Given the description of an element on the screen output the (x, y) to click on. 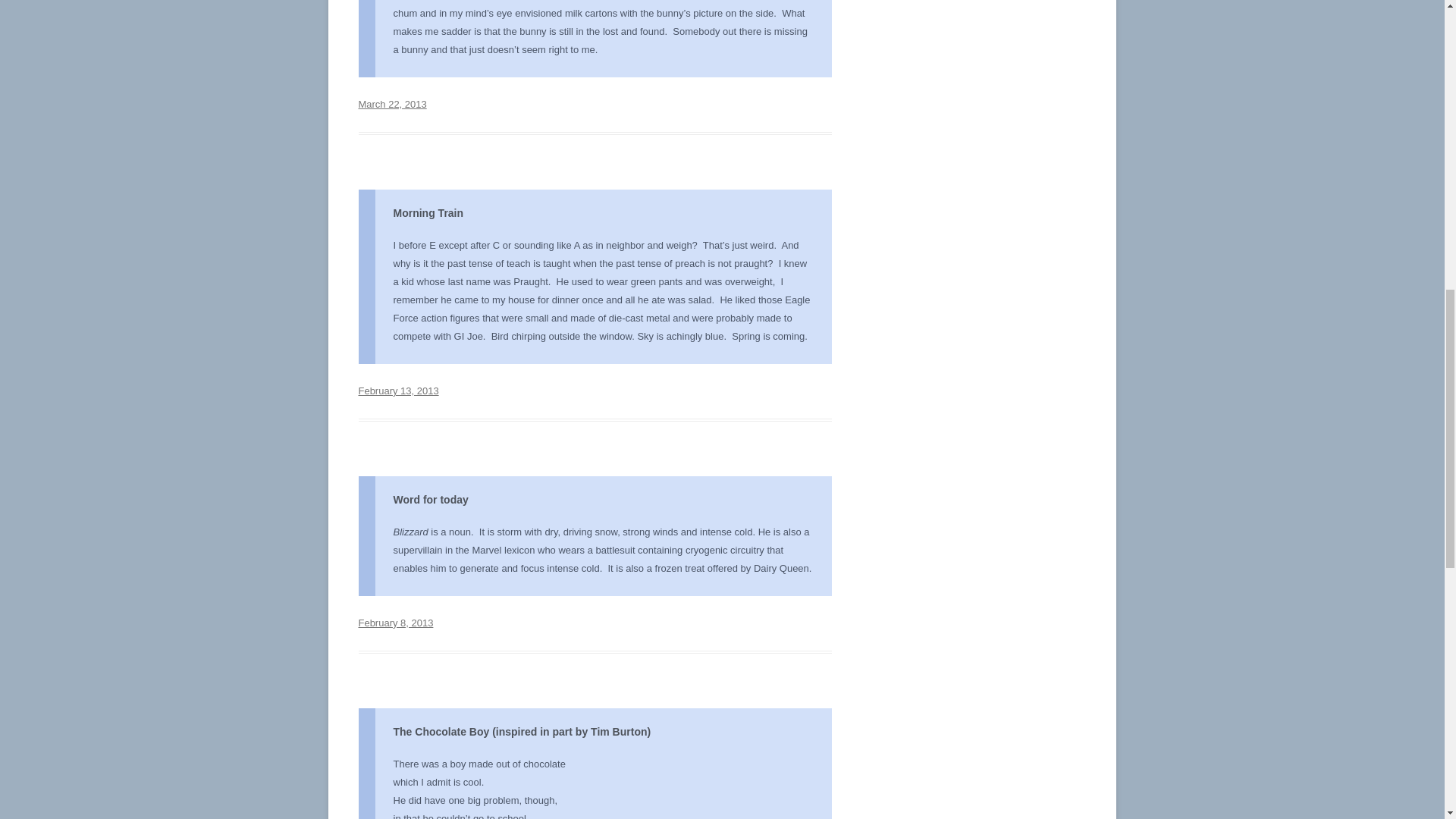
Word for today (430, 499)
Morning Train (428, 213)
Permalink to Word for today (395, 622)
Permalink to lost and found (392, 103)
Permalink to Morning Train (398, 390)
March 22, 2013 (392, 103)
February 8, 2013 (395, 622)
February 13, 2013 (398, 390)
